Given the description of an element on the screen output the (x, y) to click on. 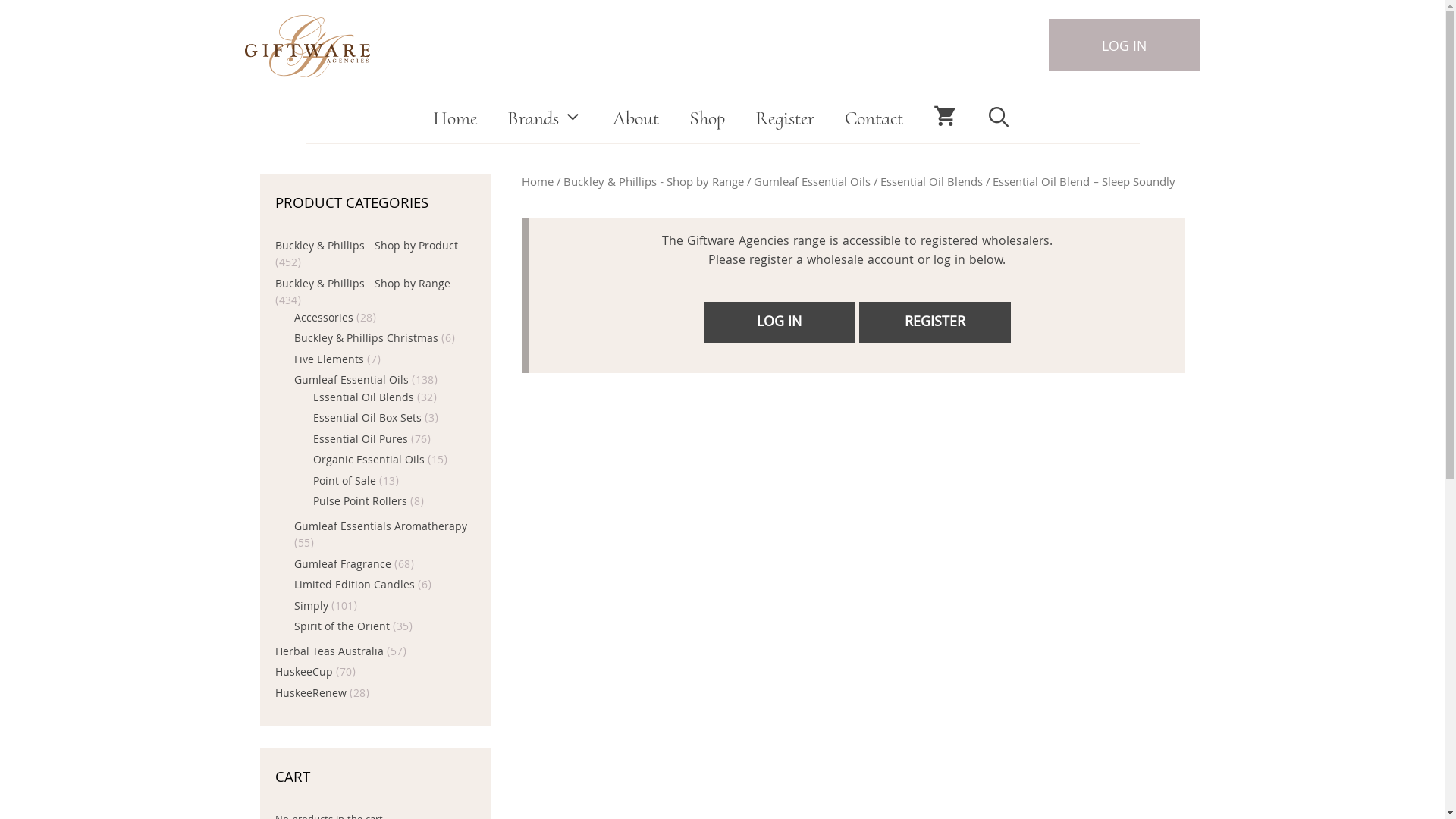
Gumleaf Fragrance Element type: text (342, 565)
LOG IN Element type: text (779, 321)
Five Elements Element type: text (329, 360)
LOG IN Element type: text (1123, 44)
Contact Element type: text (873, 117)
Giftware Agencies Element type: hover (306, 42)
Buckley & Phillips Christmas Element type: text (366, 339)
Buckley & Phillips - Shop by Range Element type: text (652, 181)
Gumleaf Essential Oils Element type: text (351, 381)
Gumleaf Essentials Aromatherapy Element type: text (380, 527)
Essential Oil Box Sets Element type: text (366, 419)
Buckley & Phillips - Shop by Range Element type: text (361, 285)
View your shopping cart Element type: hover (944, 117)
Pulse Point Rollers Element type: text (359, 502)
Home Element type: text (537, 181)
Shop Element type: text (707, 117)
Essential Oil Blends Element type: text (930, 181)
REGISTER Element type: text (934, 321)
Essential Oil Blends Element type: text (362, 398)
Organic Essential Oils Element type: text (367, 460)
Gumleaf Essential Oils Element type: text (811, 181)
Buckley & Phillips - Shop by Product Element type: text (365, 247)
Brands Element type: text (544, 117)
Register Element type: text (784, 117)
Essential Oil Pures Element type: text (359, 439)
Limited Edition Candles Element type: text (354, 586)
Accessories Element type: text (323, 318)
Point of Sale Element type: text (343, 482)
Herbal Teas Australia Element type: text (328, 652)
HuskeeCup Element type: text (303, 673)
Home Element type: text (454, 117)
Simply Element type: text (311, 606)
Spirit of the Orient Element type: text (341, 627)
About Element type: text (635, 117)
HuskeeRenew Element type: text (309, 694)
